Given the description of an element on the screen output the (x, y) to click on. 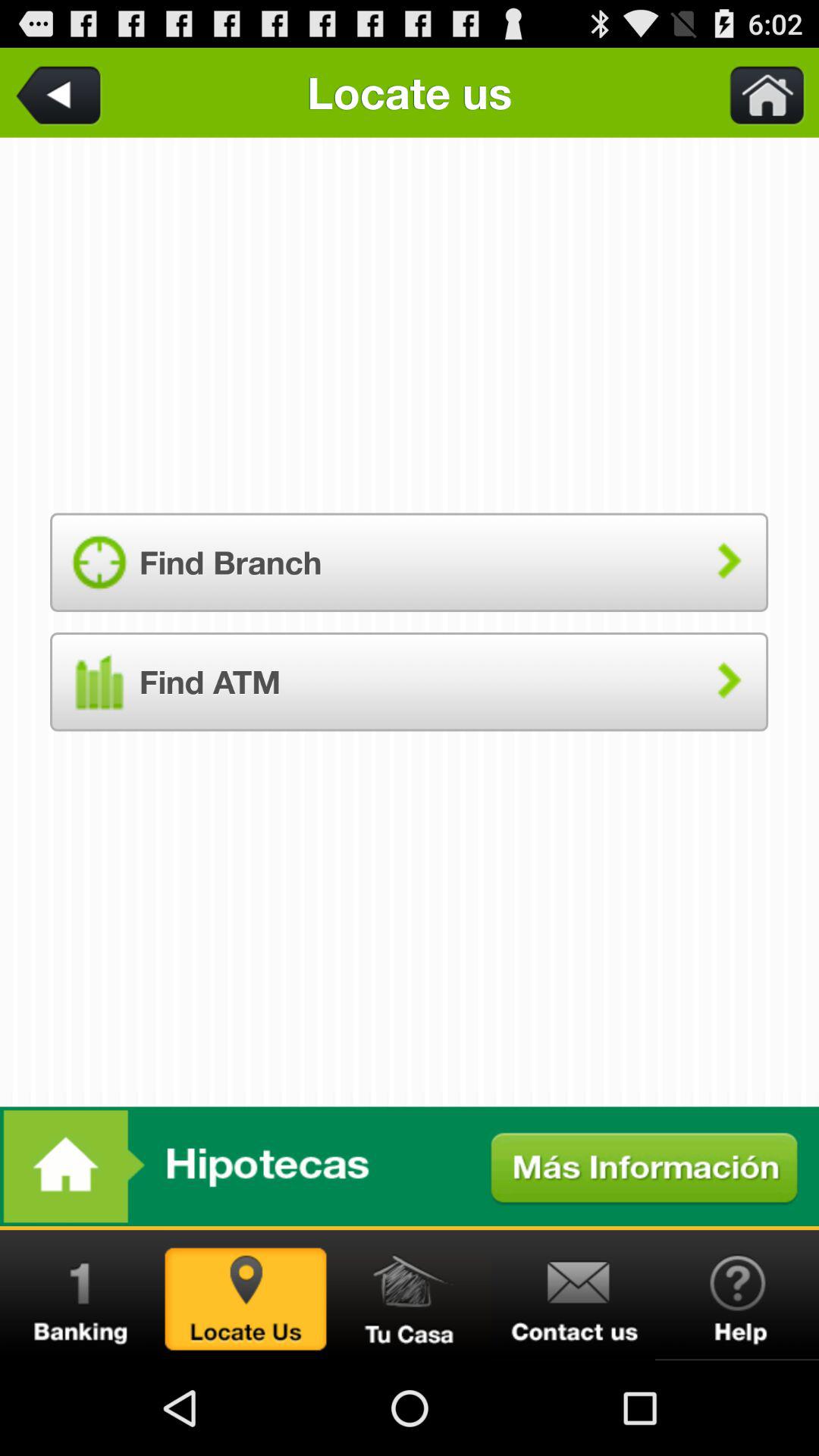
go to help (737, 1295)
